Given the description of an element on the screen output the (x, y) to click on. 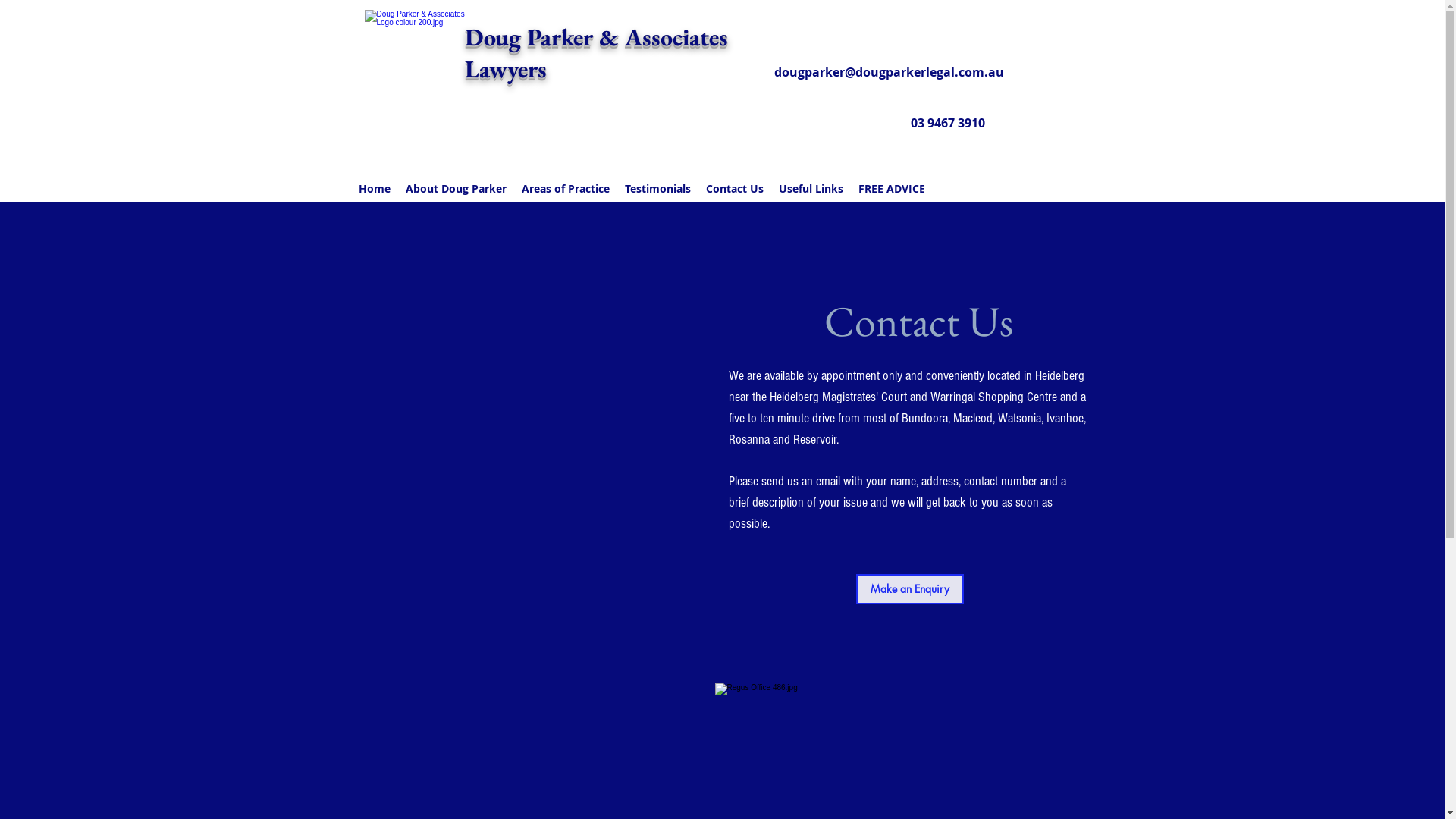
Home Element type: text (373, 188)
Contact Us Element type: text (733, 188)
Areas of Practice Element type: text (565, 188)
Testimonials Element type: text (657, 188)
FREE ADVICE Element type: text (891, 188)
About Doug Parker Element type: text (455, 188)
dougparker@dougparkerlegal.com.au Element type: text (888, 71)
Google Maps Element type: hover (528, 460)
Make an Enquiry Element type: text (909, 589)
Useful Links Element type: text (810, 188)
